Given the description of an element on the screen output the (x, y) to click on. 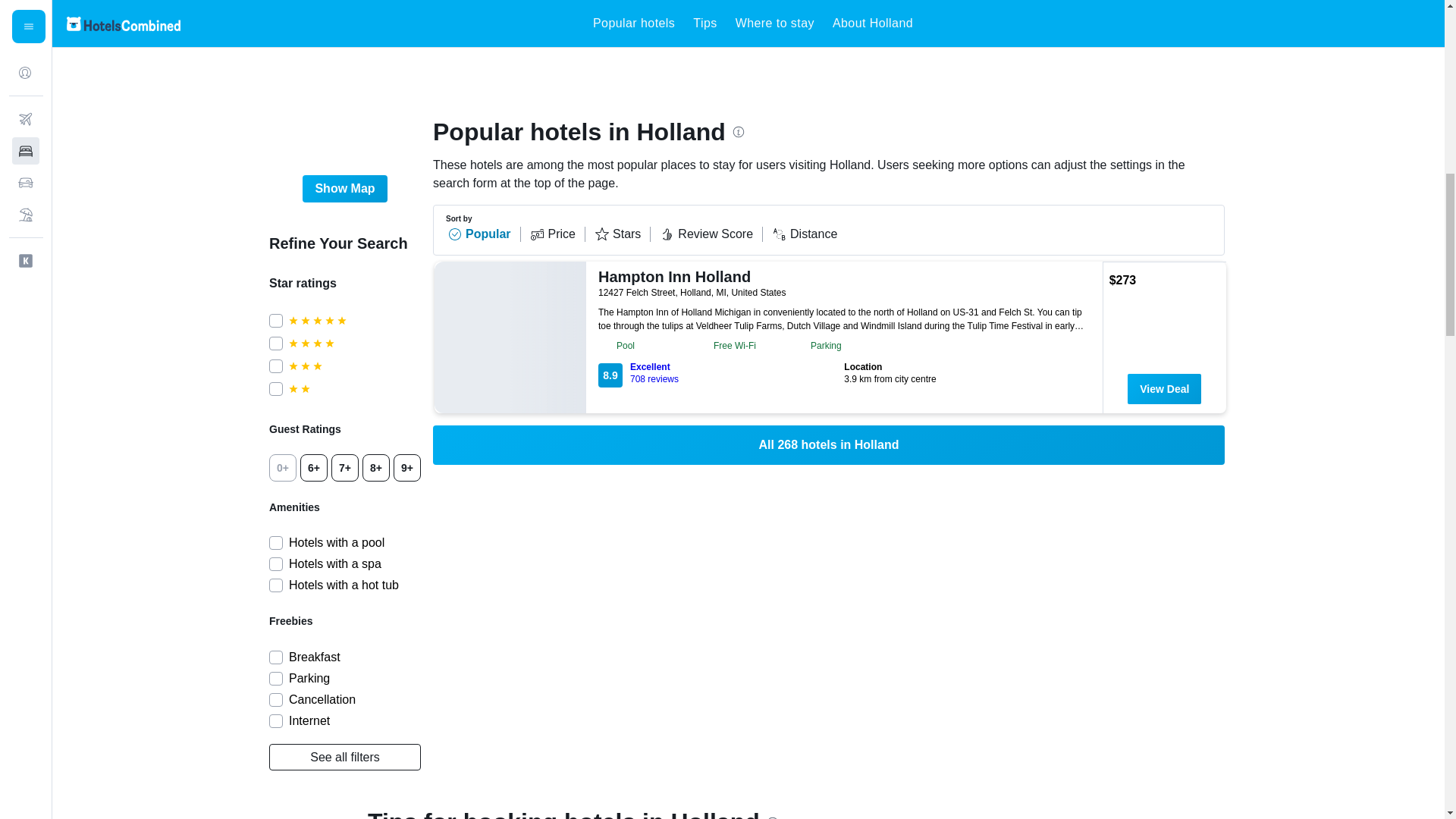
2 stars (354, 388)
3 stars (354, 366)
Home (373, 22)
4 stars (354, 343)
Hampton Inn Holland (842, 276)
United States Hotels (445, 22)
Stars (622, 233)
Review Score (710, 233)
Distance (804, 233)
Price (557, 233)
5 stars (354, 320)
Show Map (344, 188)
See all filters (344, 757)
Michigan Hotels (721, 373)
